Given the description of an element on the screen output the (x, y) to click on. 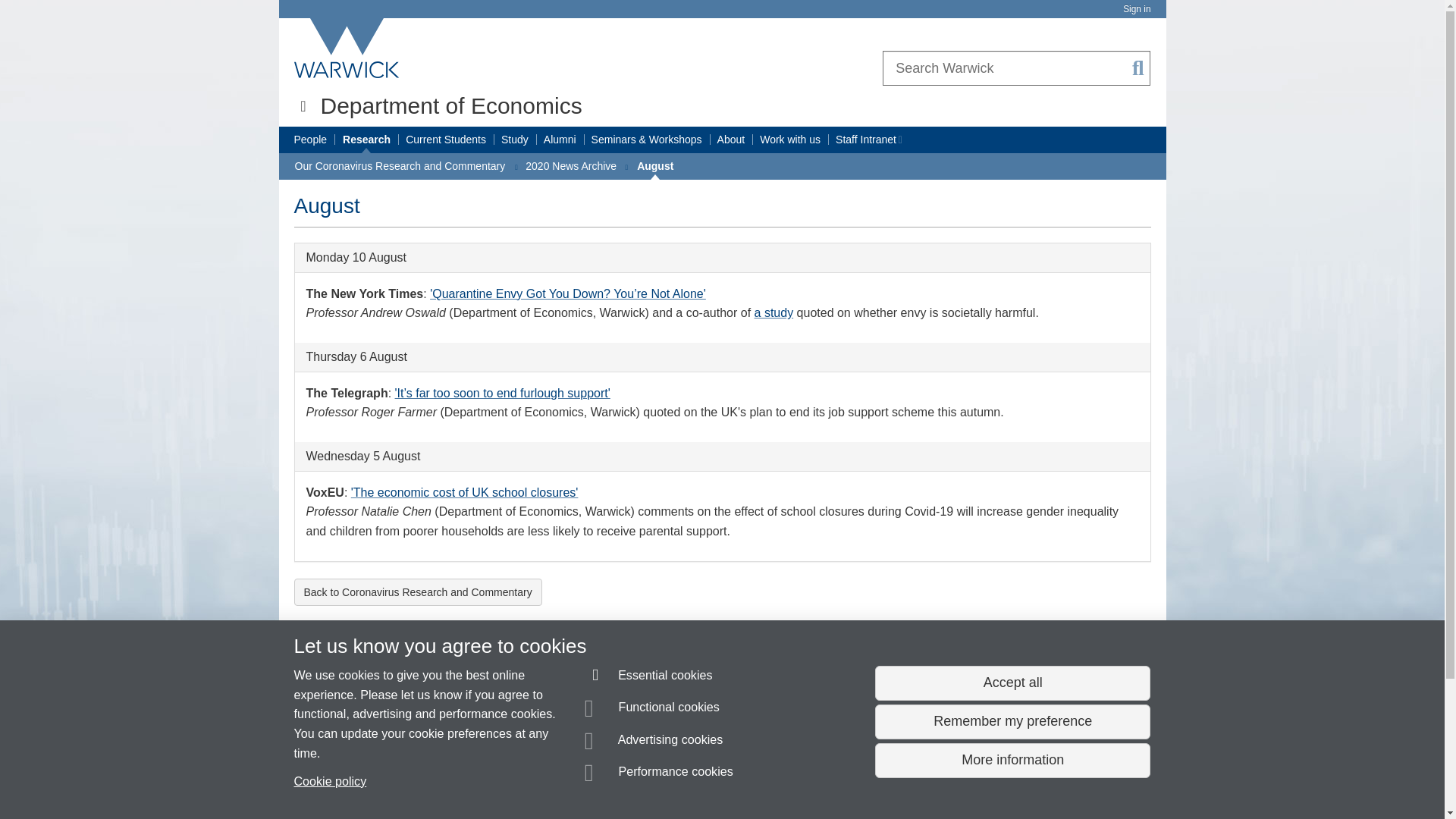
Warwick Economics on Instagram (1130, 667)
Essential cookies are always on (649, 677)
Research (366, 139)
People (310, 139)
Athena Swan (867, 685)
Accept all functional, advertising and performance cookies (1012, 683)
University of Warwick homepage (346, 48)
Current Students (446, 139)
Warwick Economics on Facebook (1094, 667)
About (731, 139)
Sign in (1136, 9)
Warwick Economics on Twitter (1055, 667)
